Given the description of an element on the screen output the (x, y) to click on. 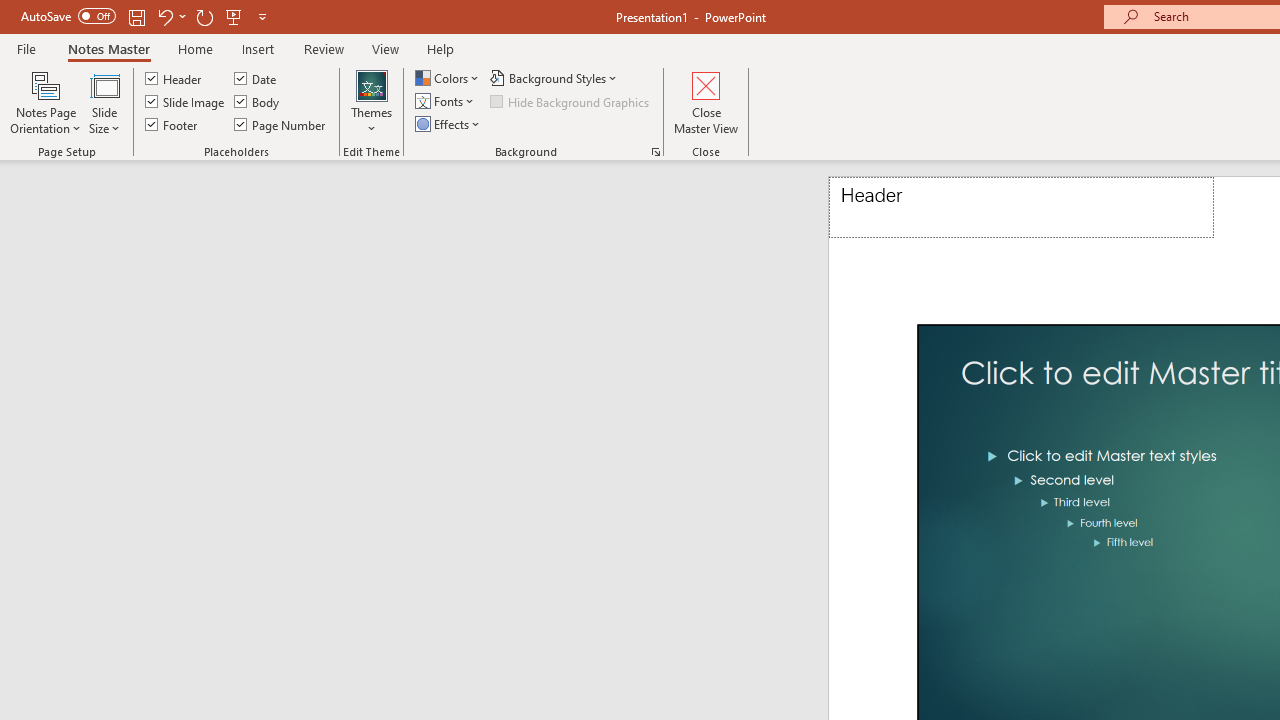
Hide Background Graphics (570, 101)
Footer (172, 124)
Notes Page Orientation (45, 102)
Header (1021, 207)
Header (174, 78)
Background Styles (555, 78)
